Given the description of an element on the screen output the (x, y) to click on. 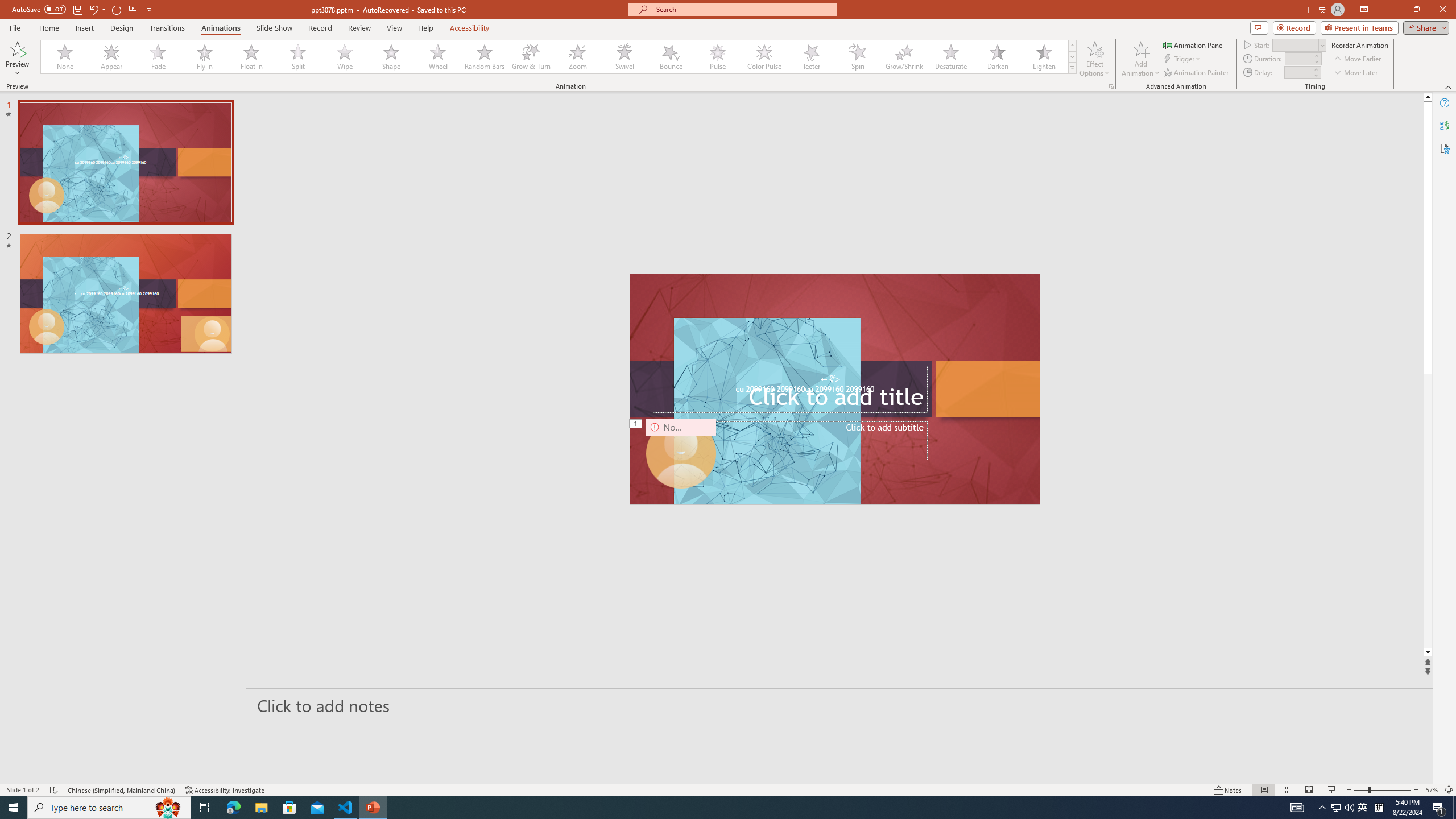
Darken (997, 56)
Fade (158, 56)
Color Pulse (764, 56)
Shape (391, 56)
Animation Pane (1193, 44)
Effect Options (1094, 58)
